Given the description of an element on the screen output the (x, y) to click on. 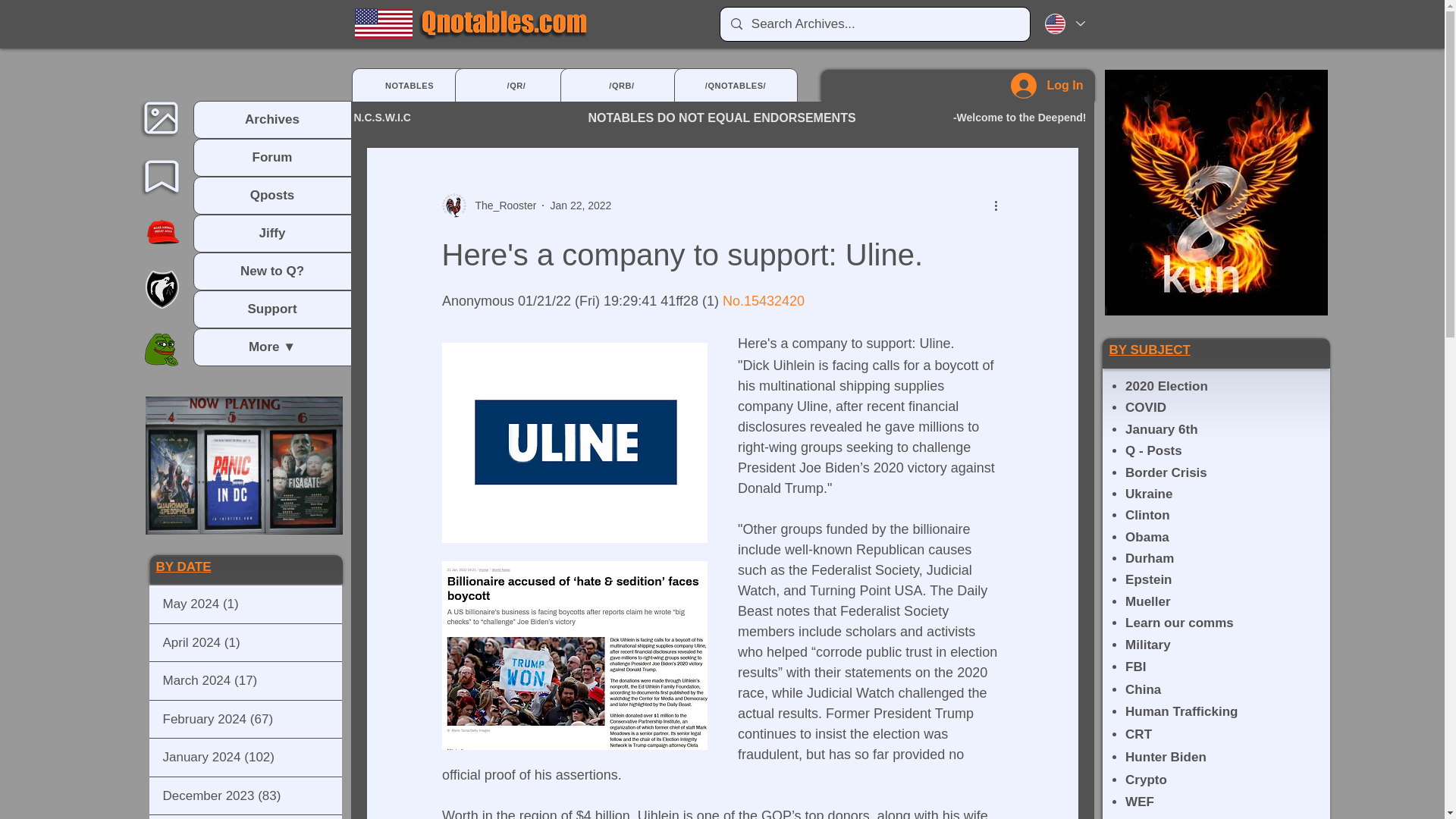
New to Q? (271, 271)
15432420 (772, 300)
NOTABLES (409, 85)
These videos may change or be added to from time to time.  (243, 465)
Qposts (271, 195)
Jan 22, 2022 (580, 204)
Forum (271, 157)
No. (732, 300)
Jiffy (271, 233)
Archives (271, 119)
